Given the description of an element on the screen output the (x, y) to click on. 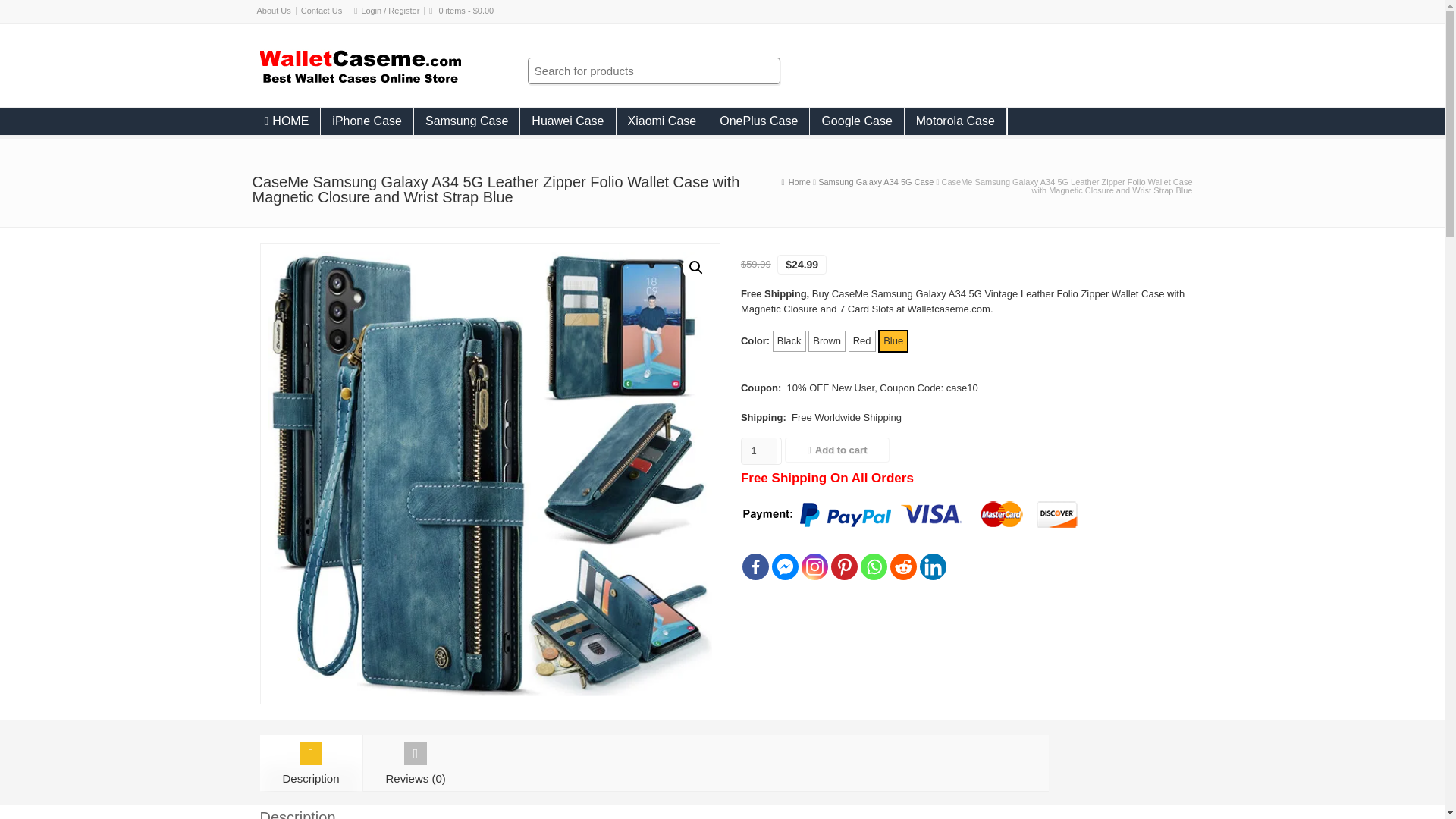
1 (759, 451)
Best Wallet Cases Online Store (799, 181)
Instagram (815, 566)
Reddit (903, 566)
Contact Us (321, 10)
View Cart (465, 10)
Qty (759, 451)
iPhone Case (366, 121)
Pinterest (844, 566)
HOME (286, 121)
Samsung Case (466, 121)
Whatsapp (873, 566)
About Us (272, 10)
Best Wallet Cases Online Store (359, 80)
